Given the description of an element on the screen output the (x, y) to click on. 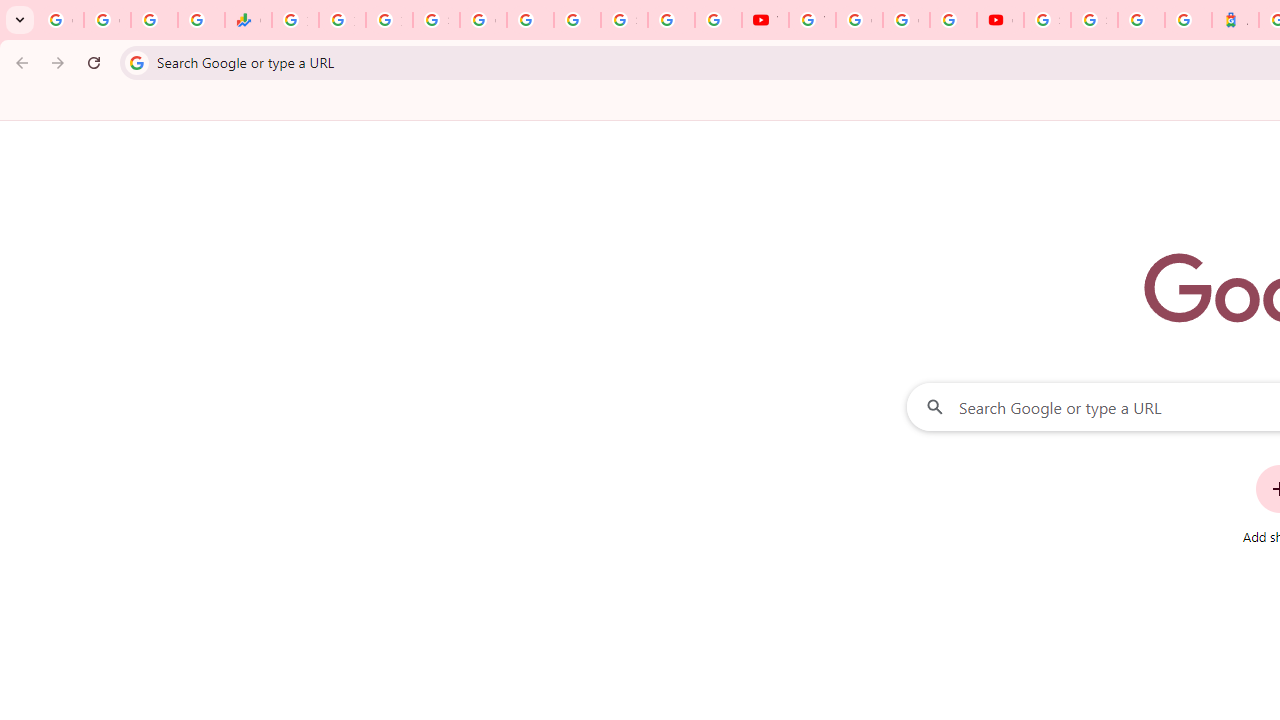
Atour Hotel - Google hotels (1235, 20)
YouTube (811, 20)
Sign in - Google Accounts (436, 20)
